Given the description of an element on the screen output the (x, y) to click on. 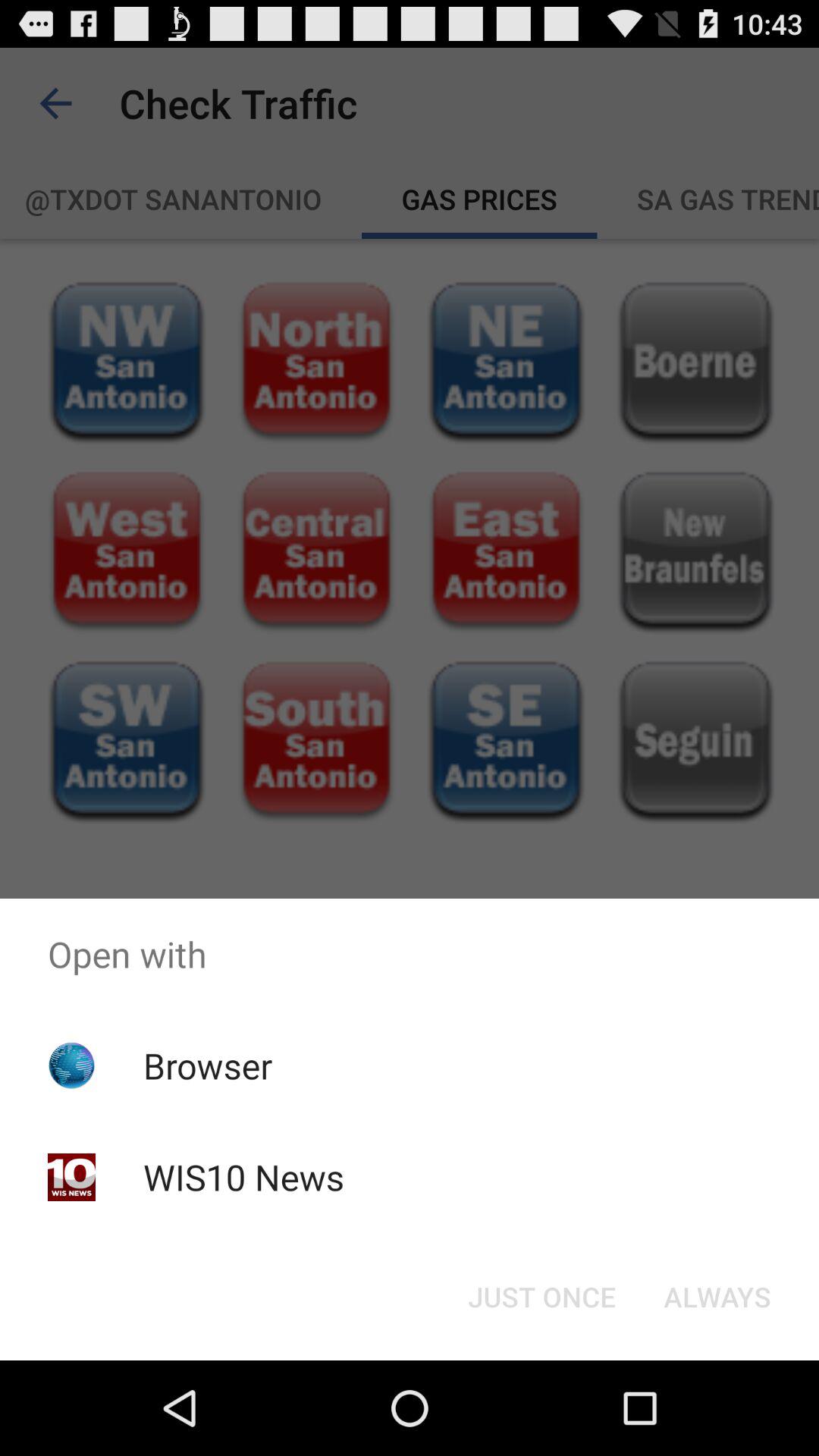
launch icon below the open with (541, 1296)
